Given the description of an element on the screen output the (x, y) to click on. 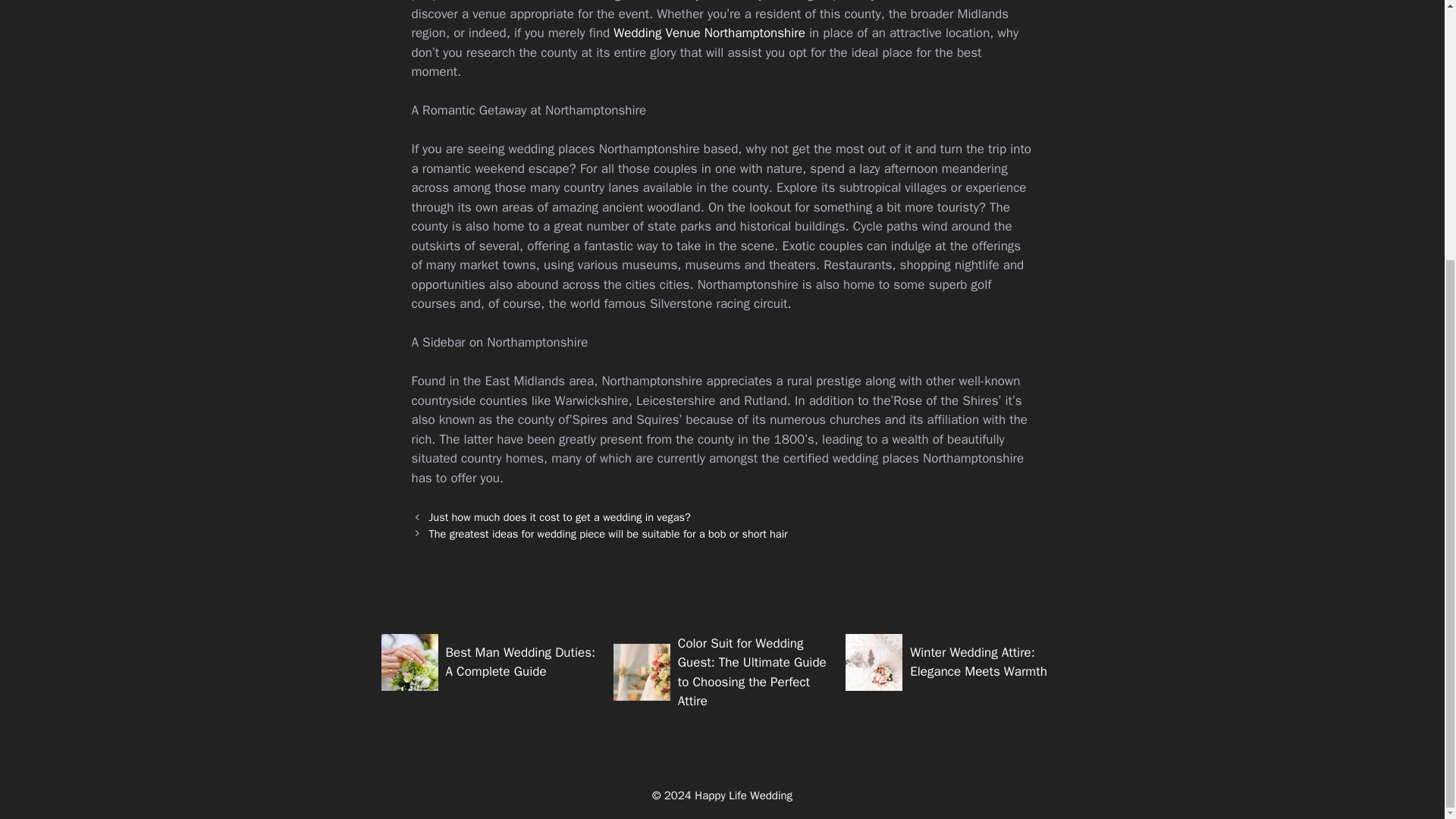
Winter Wedding Attire: Elegance Meets Warmth (978, 662)
Just how much does it cost to get a wedding in vegas? (559, 517)
Best Man Wedding Duties: A Complete Guide (520, 662)
Wedding Venue Northamptonshire (708, 32)
